Given the description of an element on the screen output the (x, y) to click on. 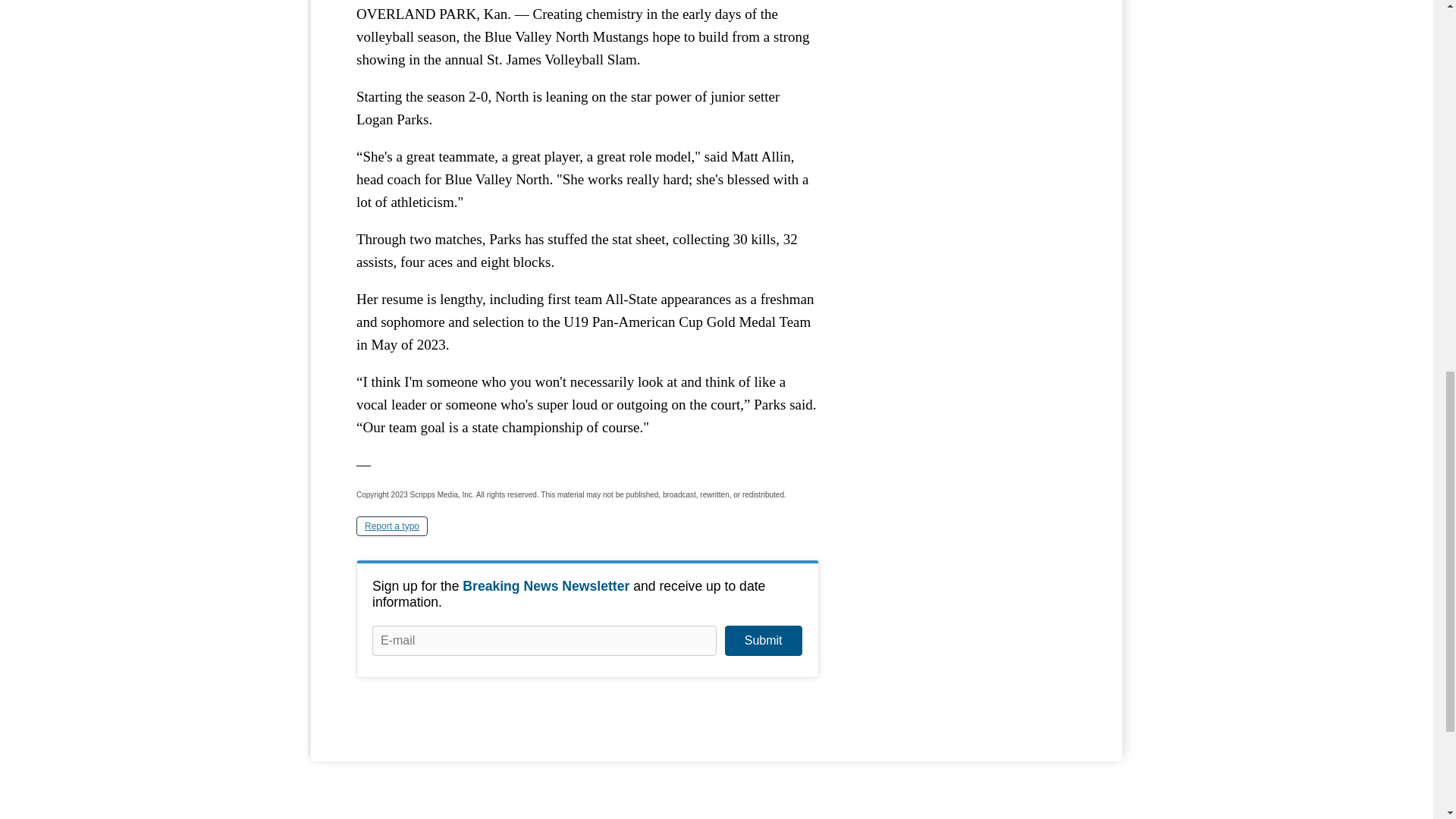
Submit (763, 640)
Snap Tackle Pod (962, 65)
